Given the description of an element on the screen output the (x, y) to click on. 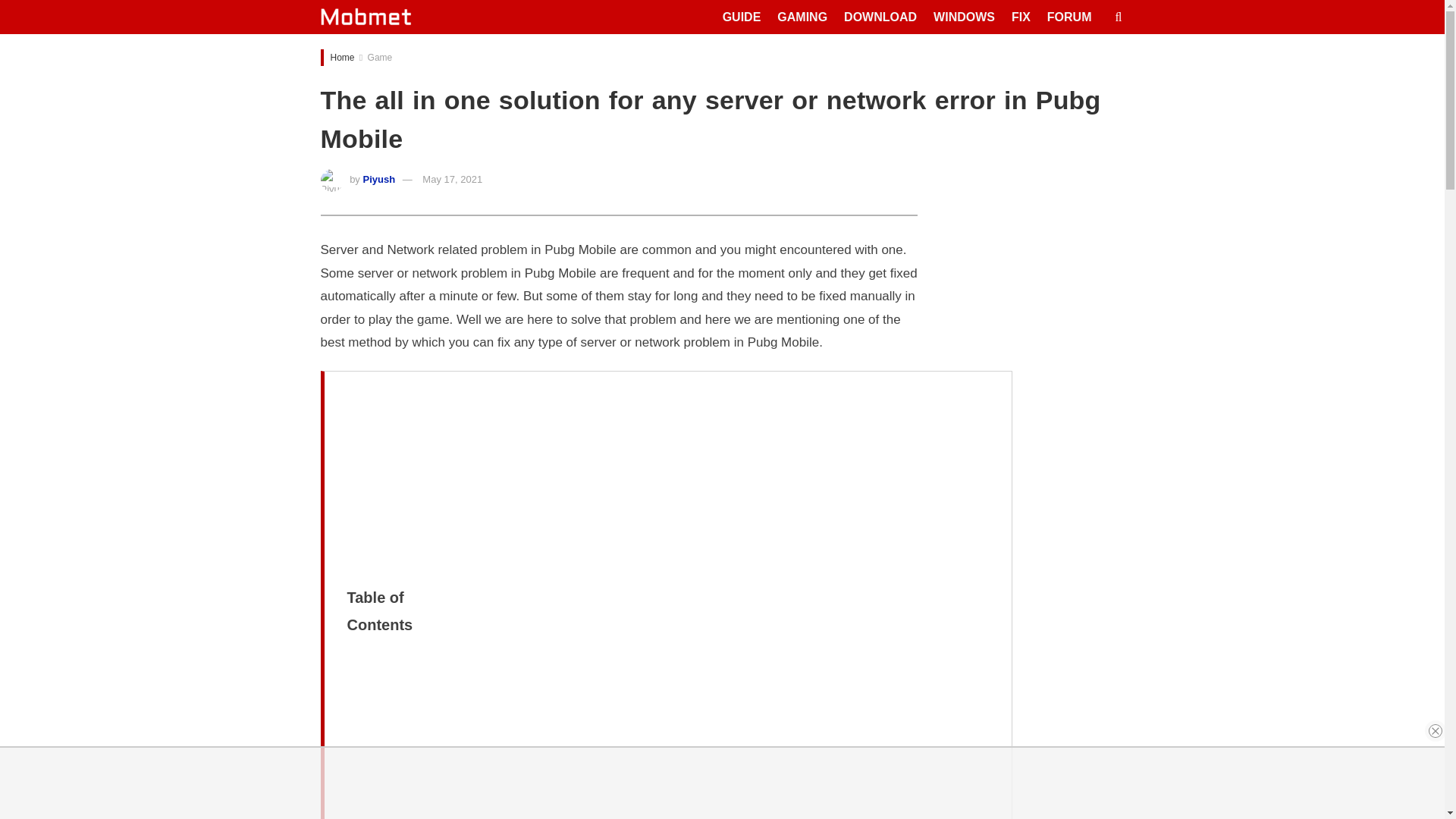
Advertisement (696, 514)
May 17, 2021 (451, 179)
WINDOWS (963, 17)
Game (380, 57)
Piyush (378, 179)
DOWNLOAD (880, 17)
GUIDE (741, 17)
FORUM (1069, 17)
GAMING (802, 17)
Home (342, 57)
